Given the description of an element on the screen output the (x, y) to click on. 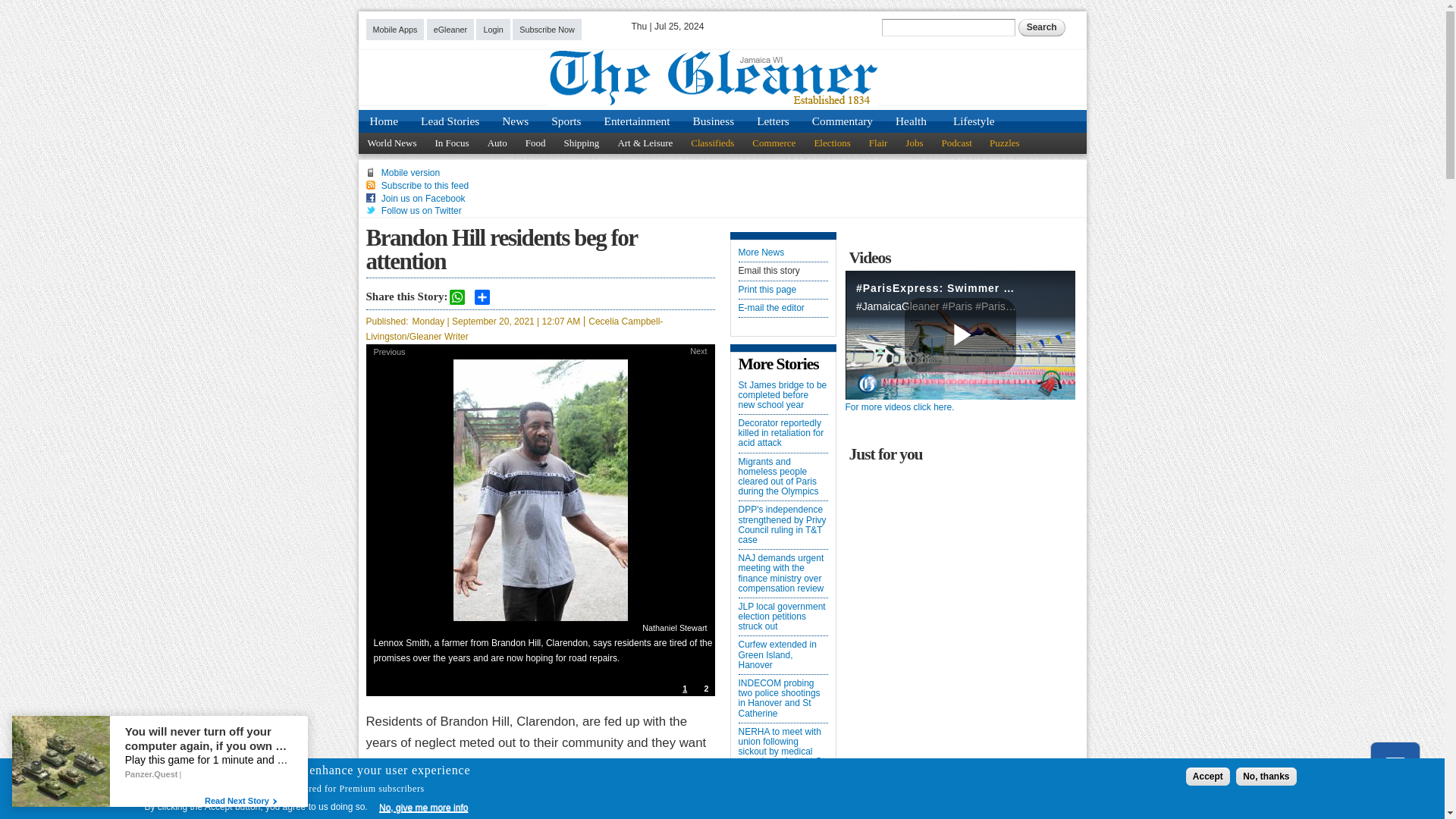
Search (1041, 27)
Follow us on Twitter (421, 210)
Elections (832, 142)
Lead Stories (449, 120)
Search (1041, 27)
Business (713, 120)
Skip to main content (697, 8)
Entertainment (636, 120)
eGleaner (450, 29)
Puzzles (1005, 142)
Join us on Facebook (423, 198)
Login (492, 29)
Podcast (955, 142)
Flair (878, 142)
Search (1041, 27)
